Given the description of an element on the screen output the (x, y) to click on. 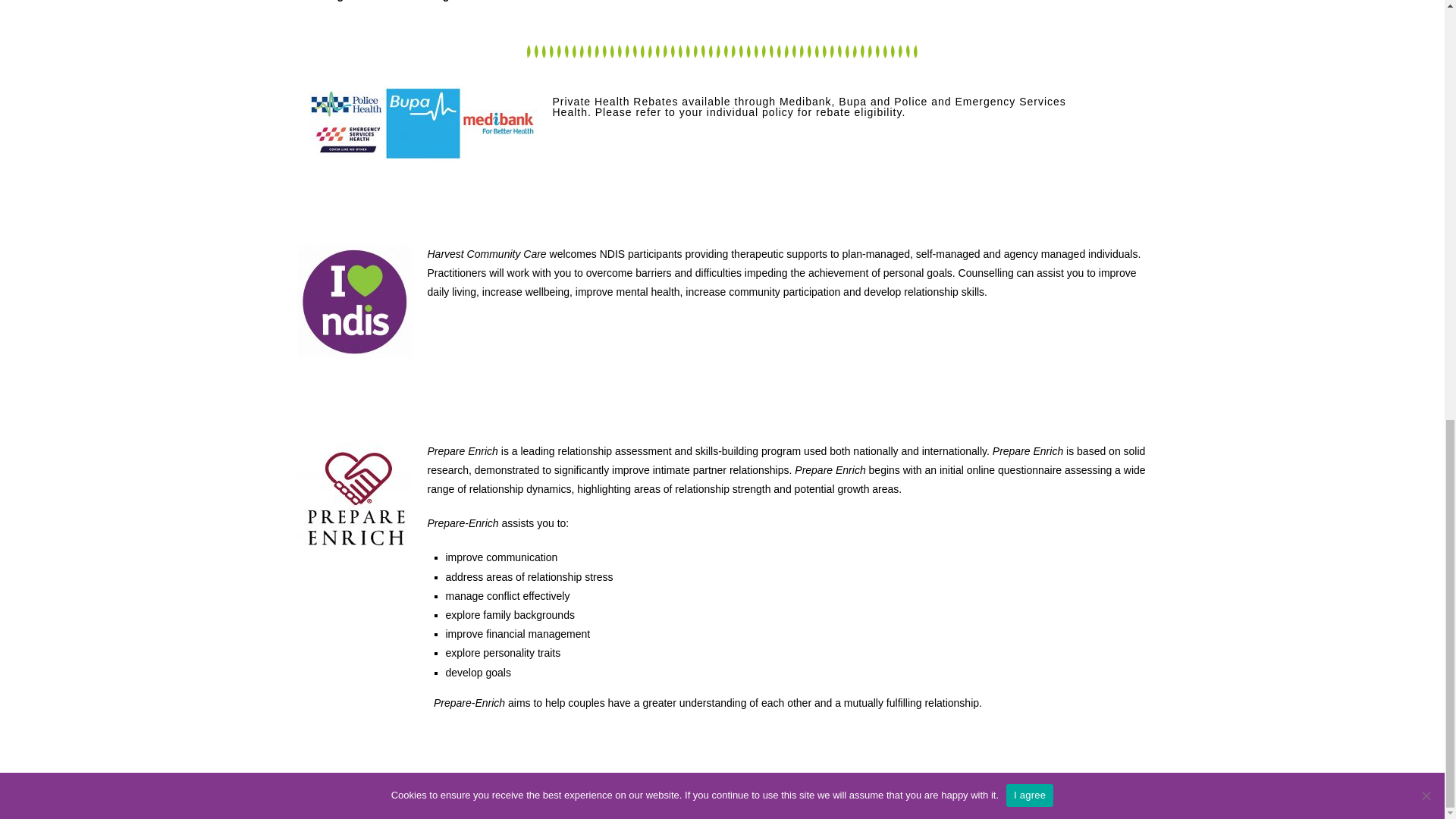
Wayzgoose Print (851, 803)
Wayzgoose Print (851, 803)
